Given the description of an element on the screen output the (x, y) to click on. 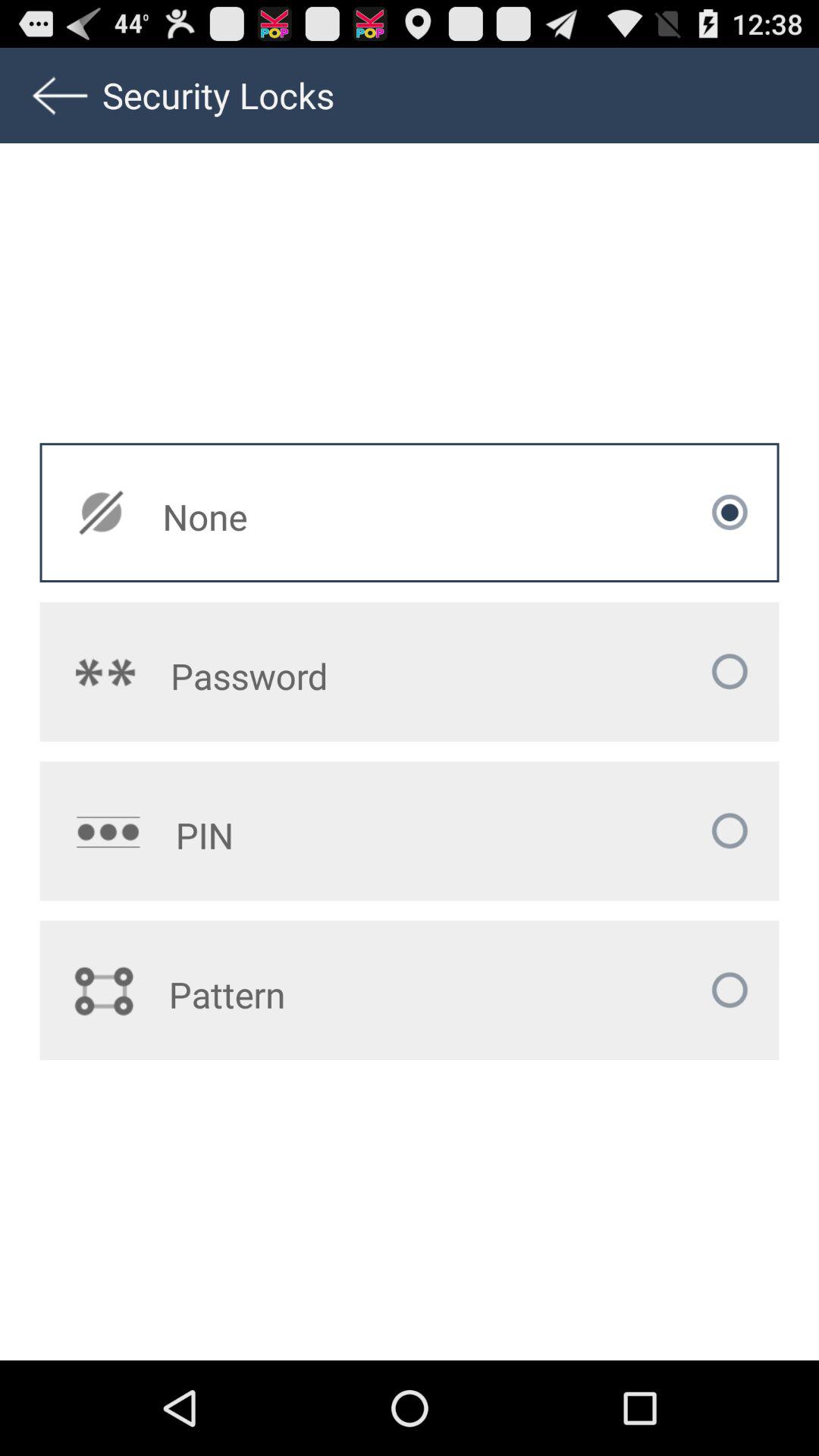
scroll to the pattern icon (317, 994)
